Given the description of an element on the screen output the (x, y) to click on. 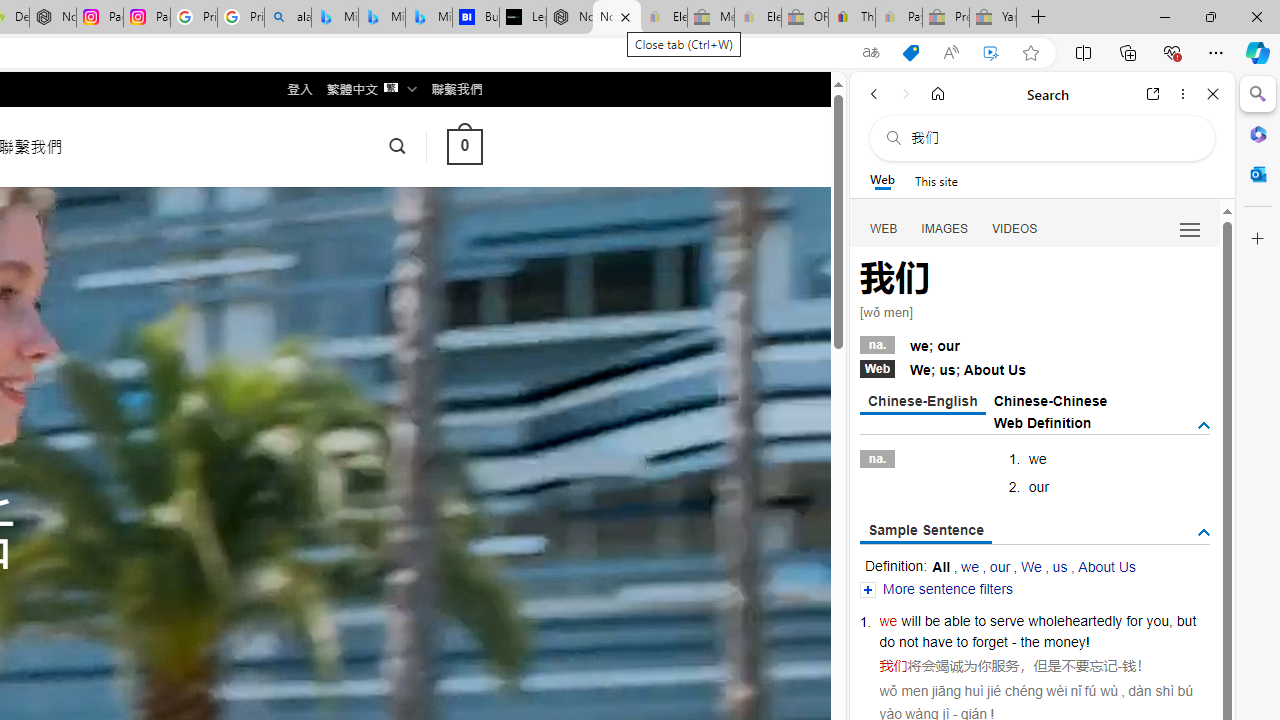
you (1157, 620)
money (1064, 642)
our (1000, 566)
Web Definition (1042, 422)
we (888, 620)
forget (989, 642)
